Given the description of an element on the screen output the (x, y) to click on. 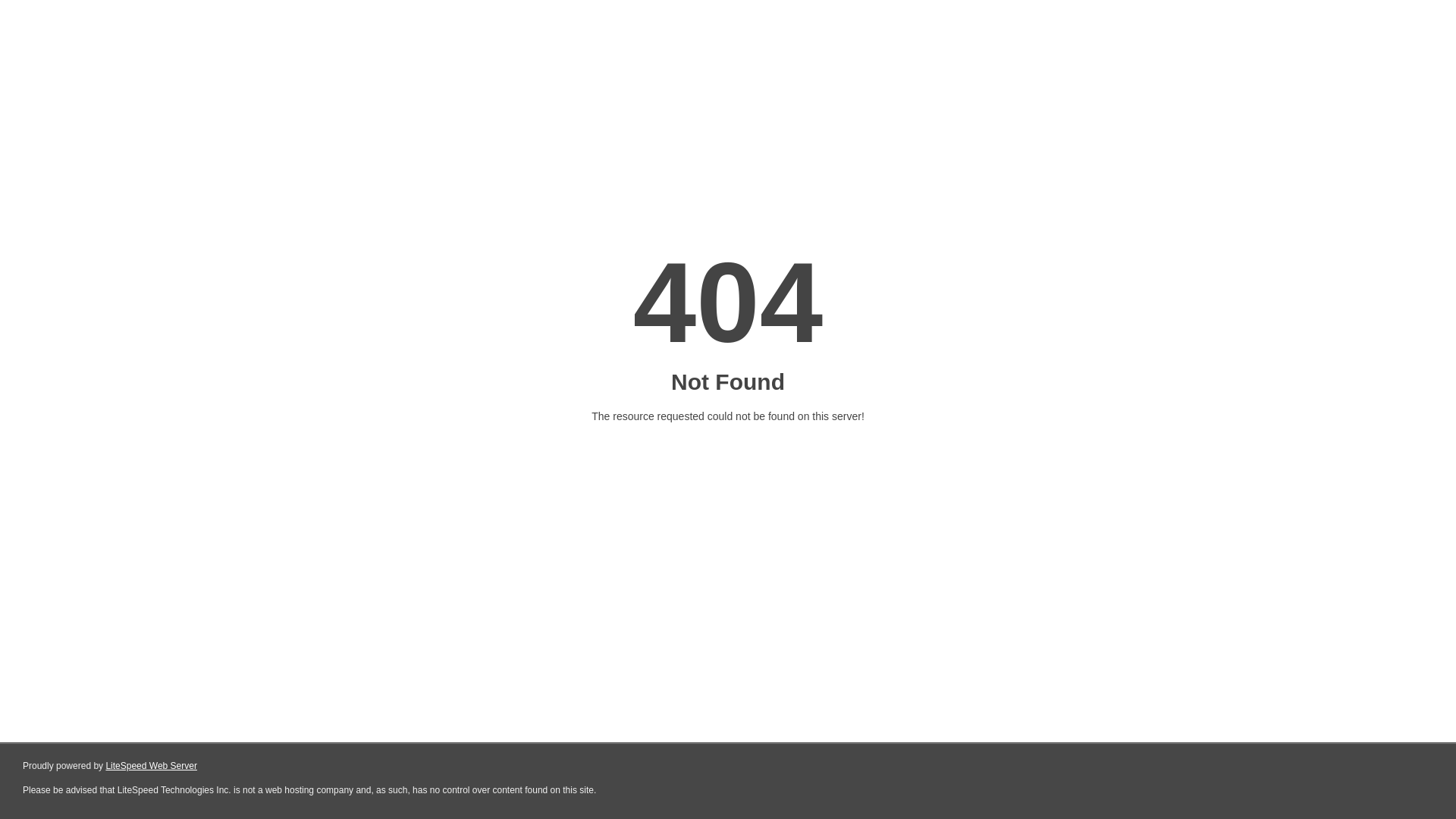
LiteSpeed Web Server Element type: text (151, 765)
